Given the description of an element on the screen output the (x, y) to click on. 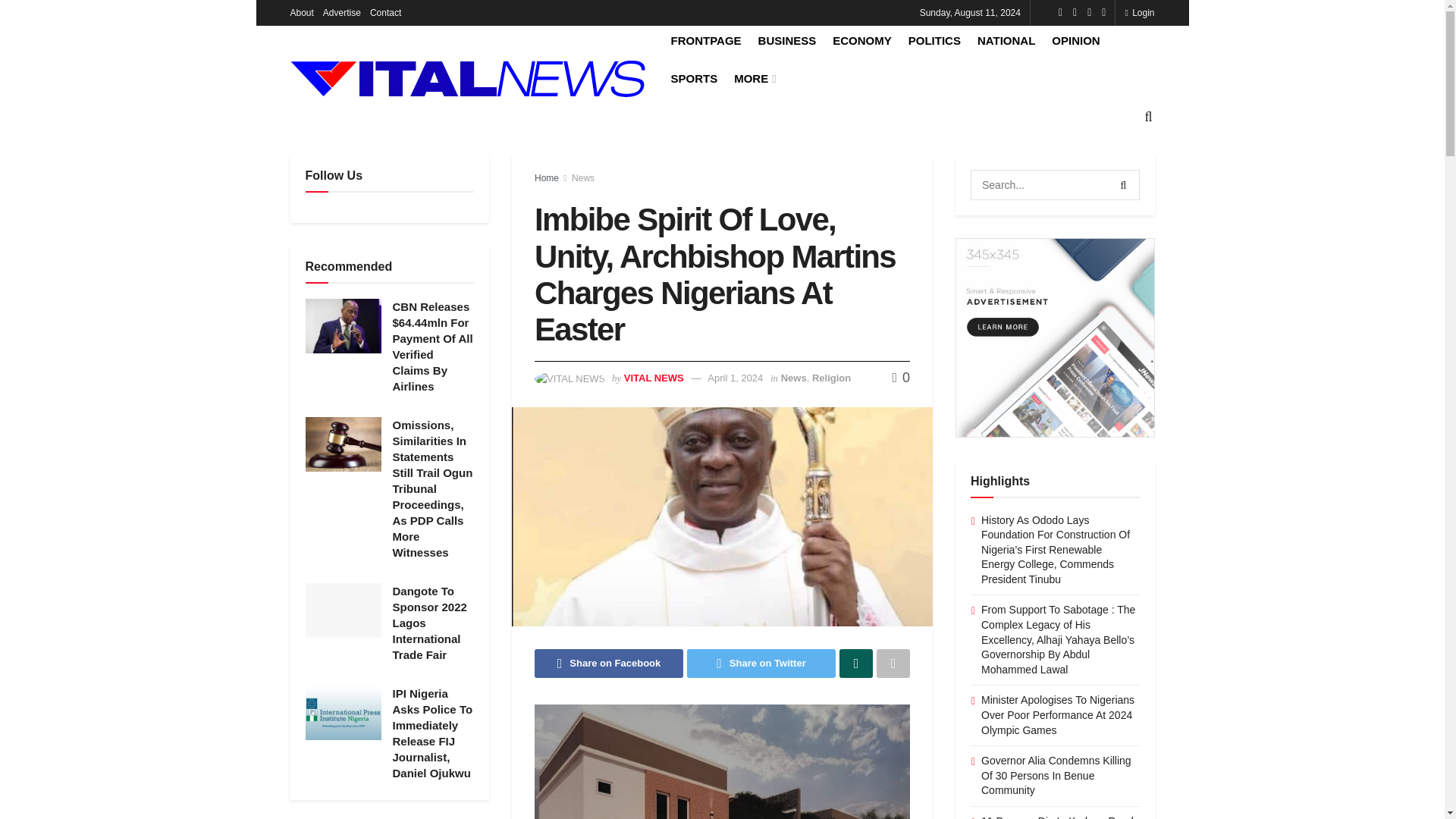
SPORTS (693, 78)
OPINION (1075, 40)
FRONTPAGE (705, 40)
Advertise (342, 12)
NATIONAL (1005, 40)
Login (1139, 12)
Home (546, 177)
Contact (385, 12)
MORE (753, 78)
ECONOMY (861, 40)
